Given the description of an element on the screen output the (x, y) to click on. 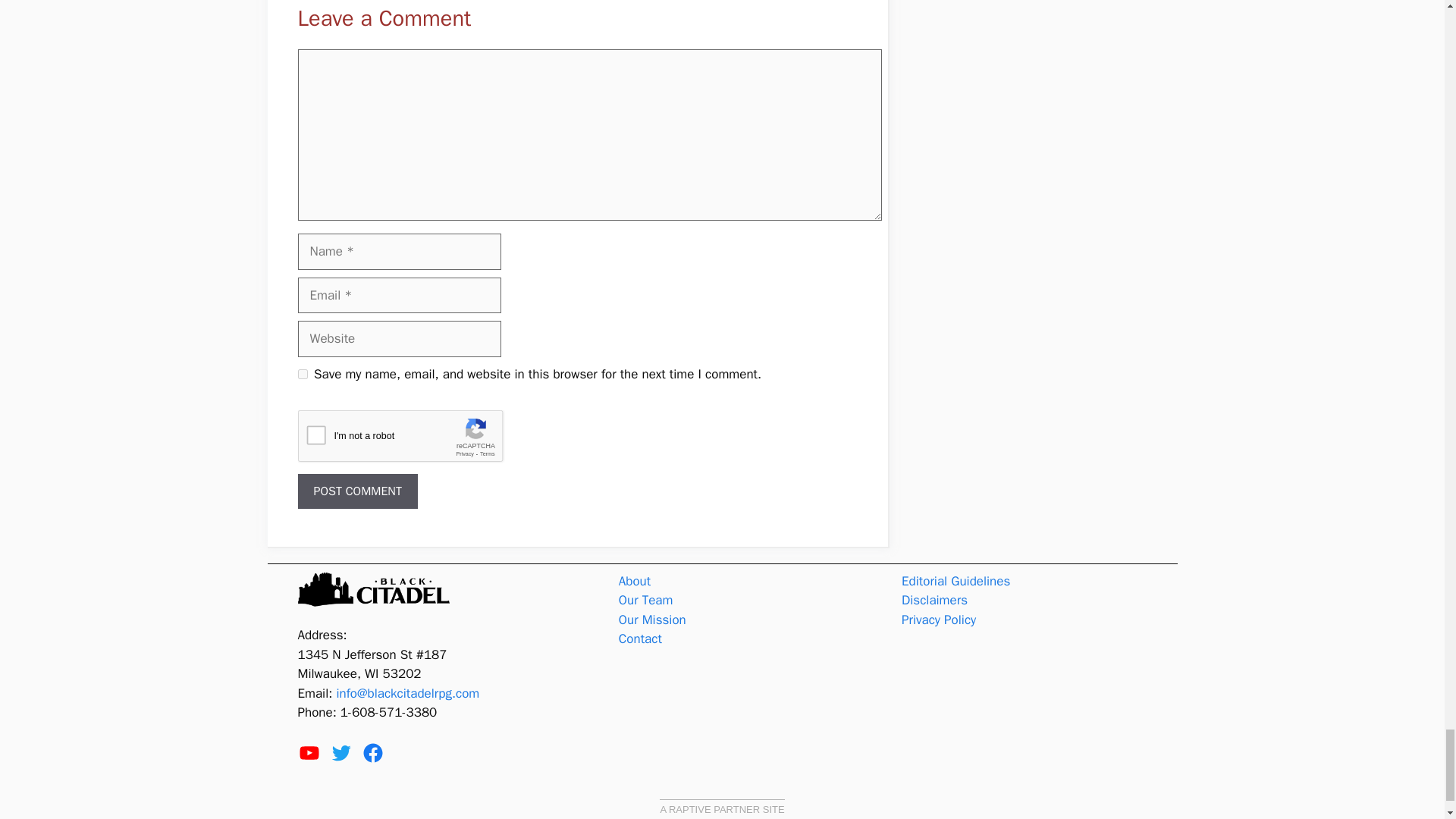
Post Comment (356, 491)
yes (302, 374)
reCAPTCHA (412, 439)
